Given the description of an element on the screen output the (x, y) to click on. 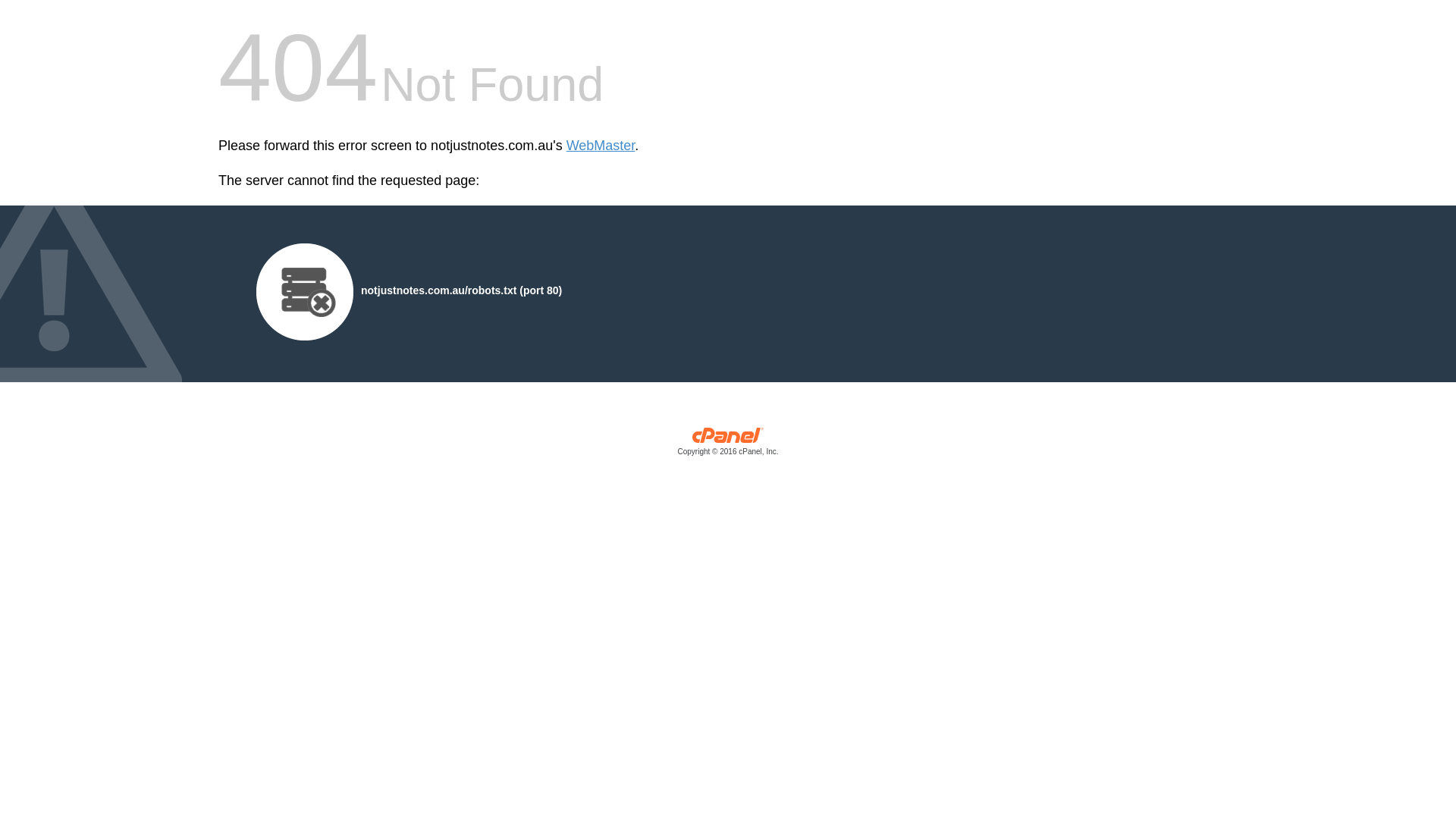
WebMaster Element type: text (600, 145)
